Given the description of an element on the screen output the (x, y) to click on. 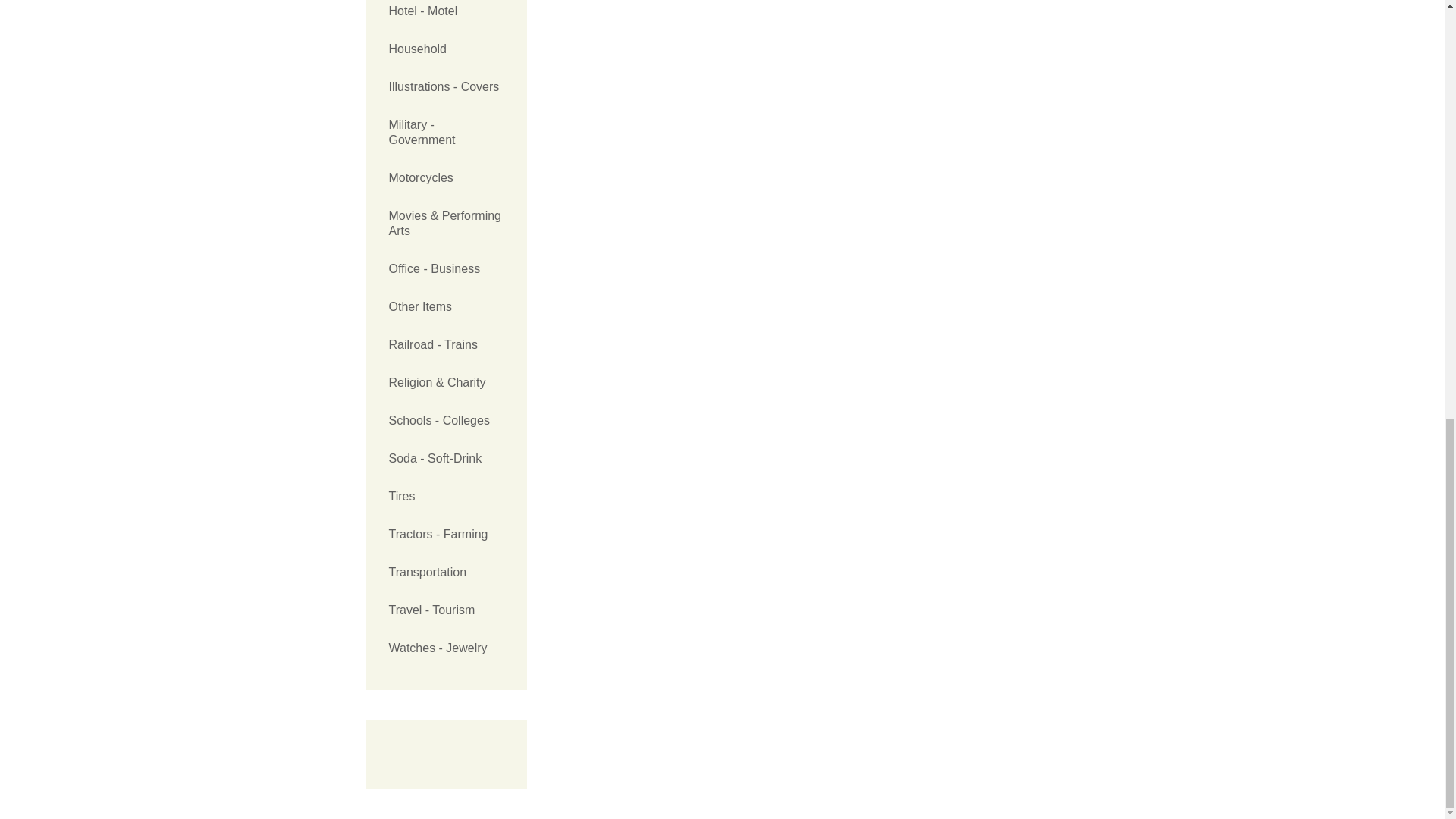
Household (445, 48)
Hotel - Motel (445, 15)
Other Items (445, 306)
Military - Government (445, 132)
Office - Business (445, 269)
Illustrations - Covers (445, 86)
Motorcycles (445, 177)
